Given the description of an element on the screen output the (x, y) to click on. 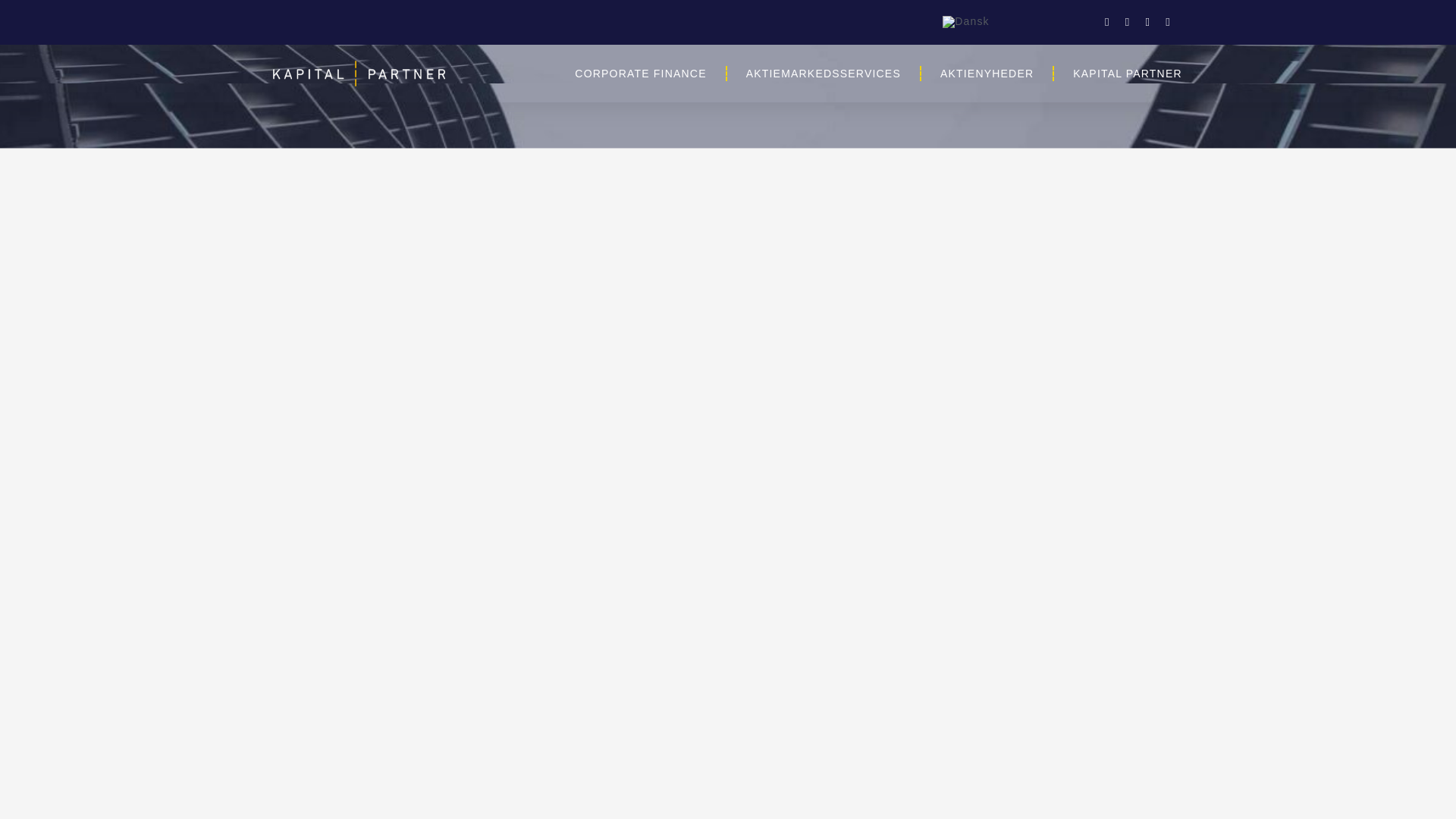
KAPITAL PARTNER (1127, 73)
AKTIEMARKEDSSERVICES (823, 73)
AKTIENYHEDER (986, 73)
CORPORATE FINANCE (640, 73)
